Given the description of an element on the screen output the (x, y) to click on. 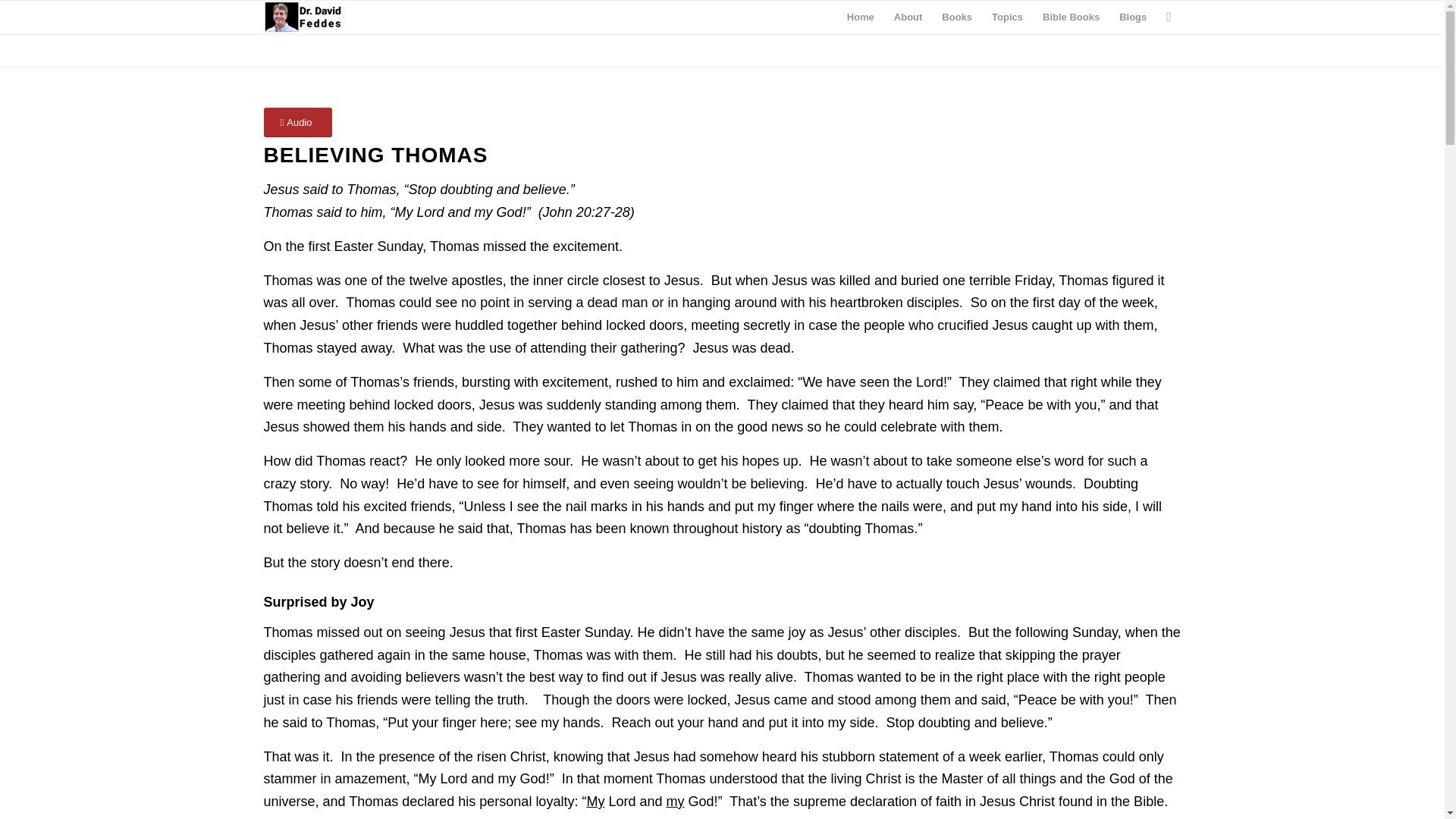
About (908, 17)
Home (860, 17)
Bible Books (1070, 17)
Books (956, 17)
Audio (297, 122)
Blogs (1132, 17)
Topics (1006, 17)
